Given the description of an element on the screen output the (x, y) to click on. 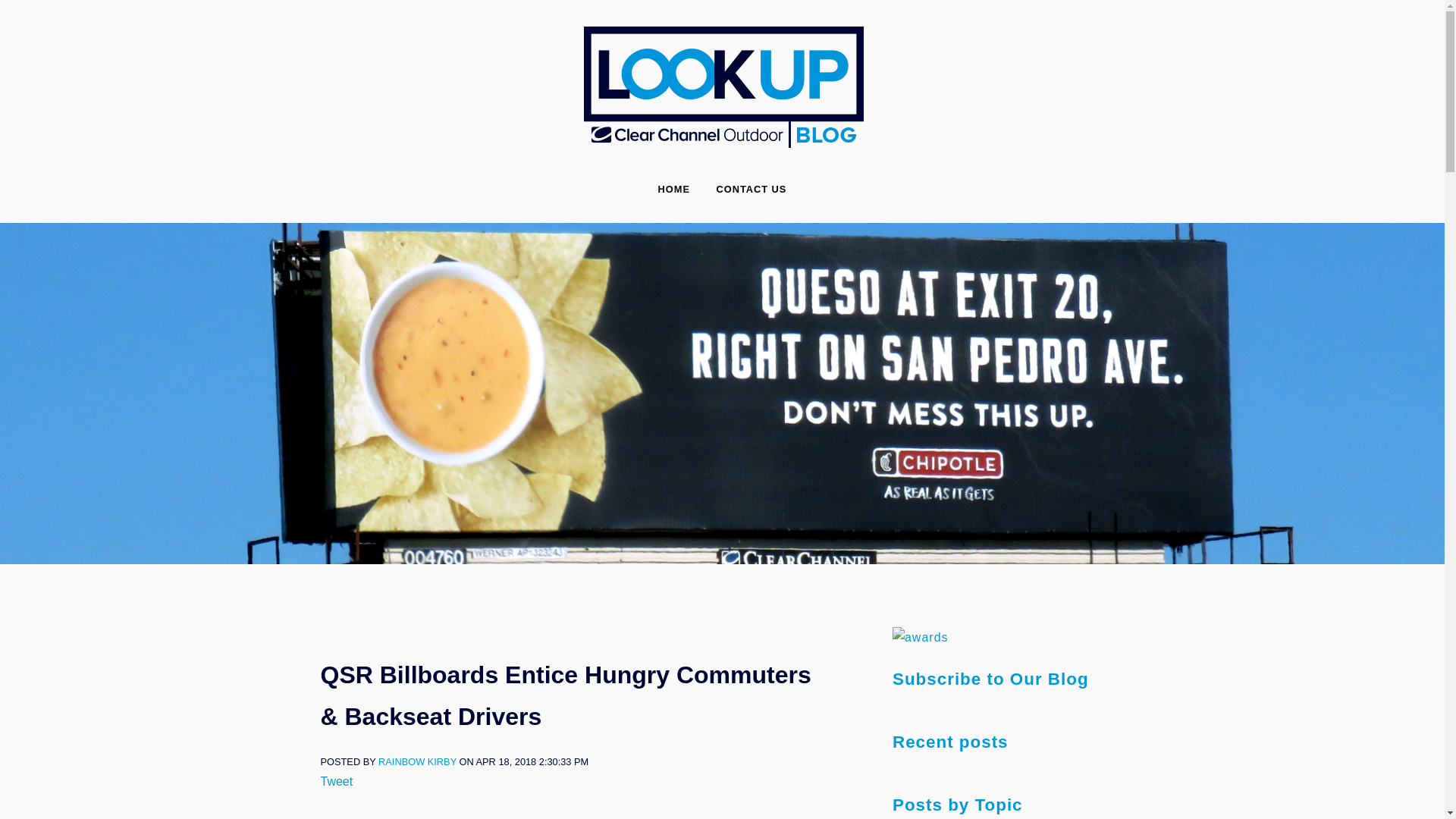
CONTACT US (750, 189)
Tweet (336, 780)
HOME (673, 189)
RAINBOW KIRBY (417, 761)
awards (920, 637)
